Given the description of an element on the screen output the (x, y) to click on. 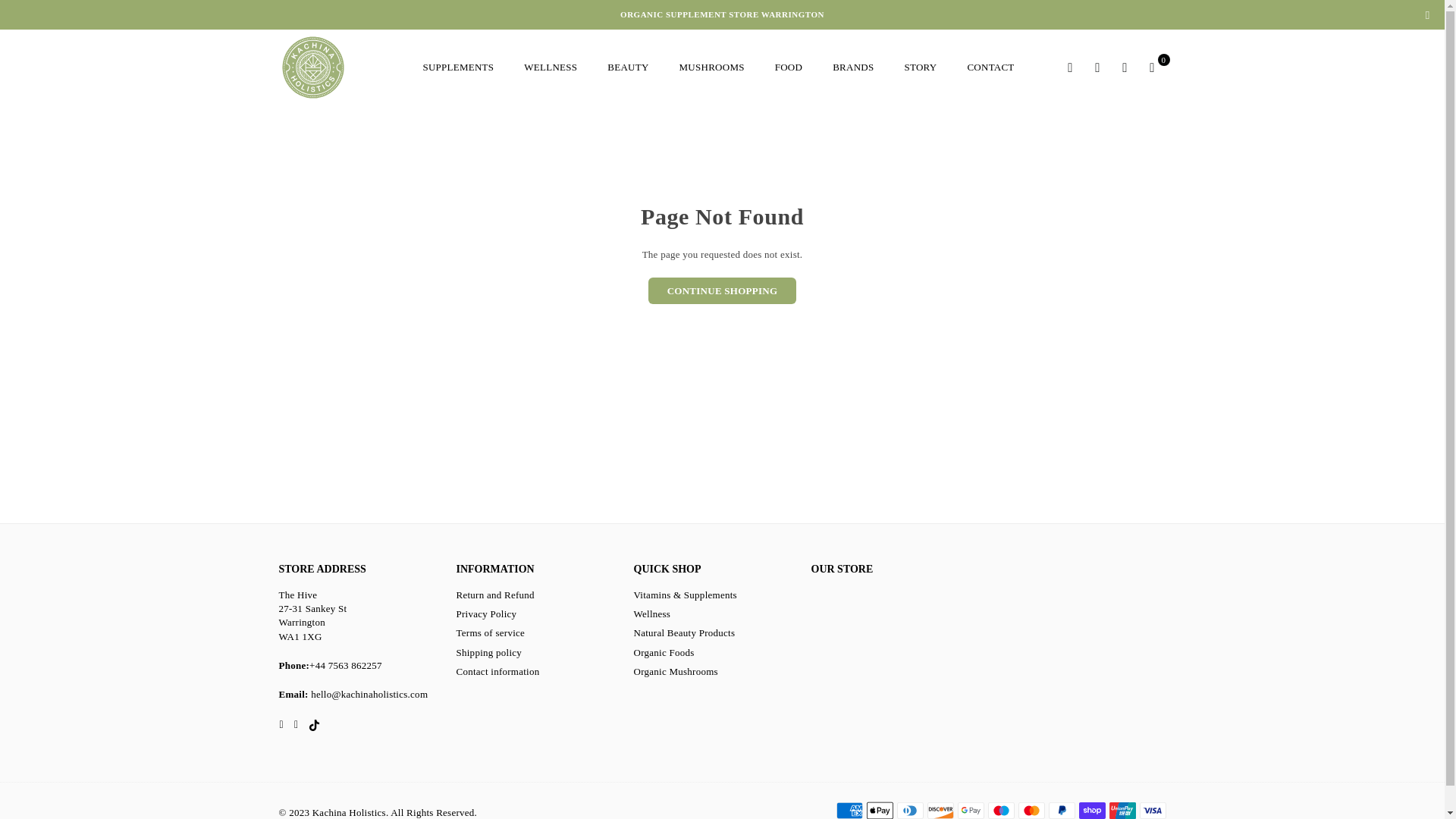
KACHINA HOLISTICS (343, 67)
PayPal (1061, 810)
Kachina Holistics on Facebook (281, 724)
Union Pay (1121, 810)
Kachina Holistics on TikTok (313, 724)
Apple Pay (879, 810)
Search (1070, 67)
SUPPLEMENTS (457, 67)
Kachina Holistics on Instagram (295, 724)
Shop Pay (1091, 810)
